Given the description of an element on the screen output the (x, y) to click on. 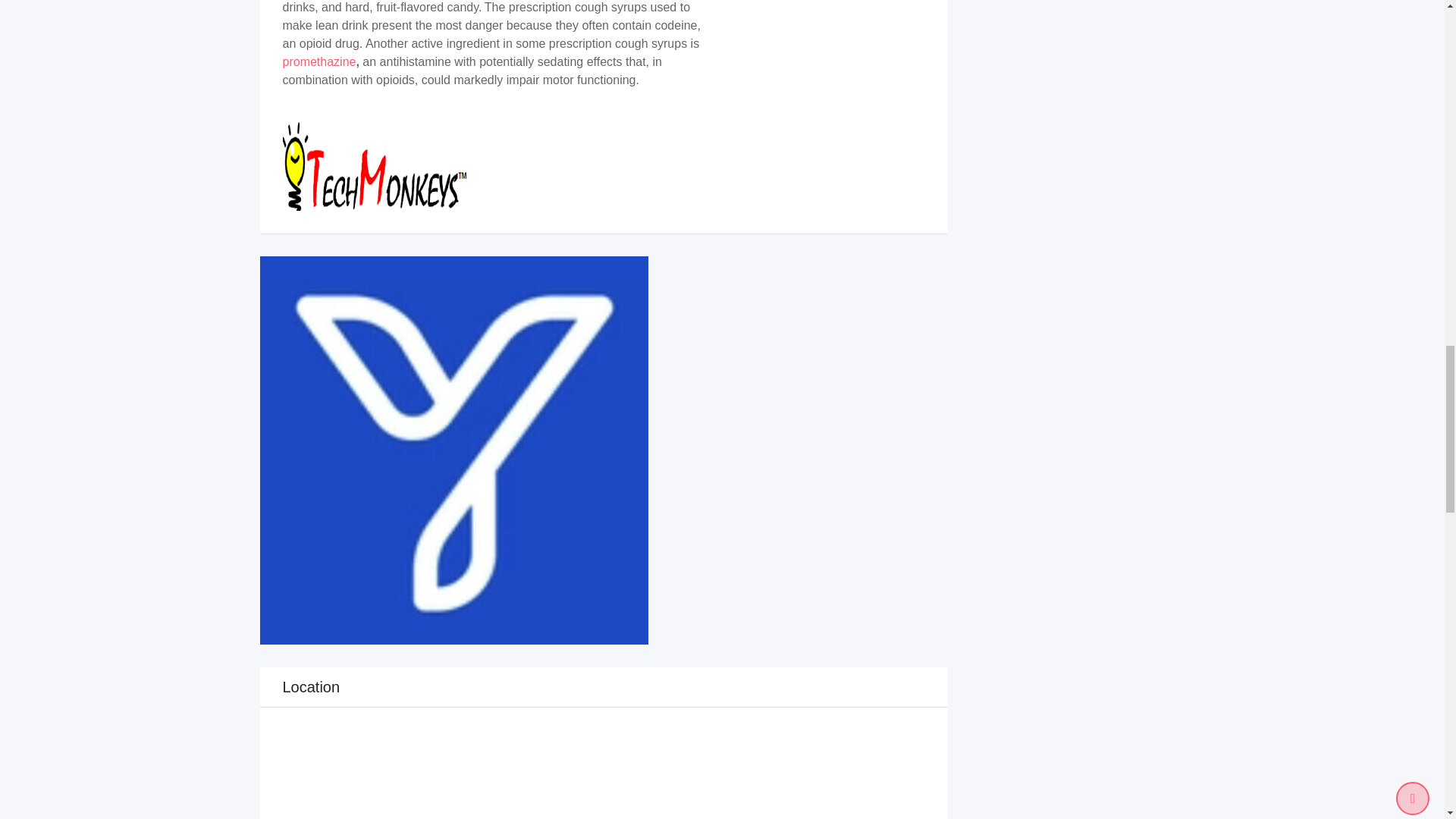
promethazine (318, 61)
